Given the description of an element on the screen output the (x, y) to click on. 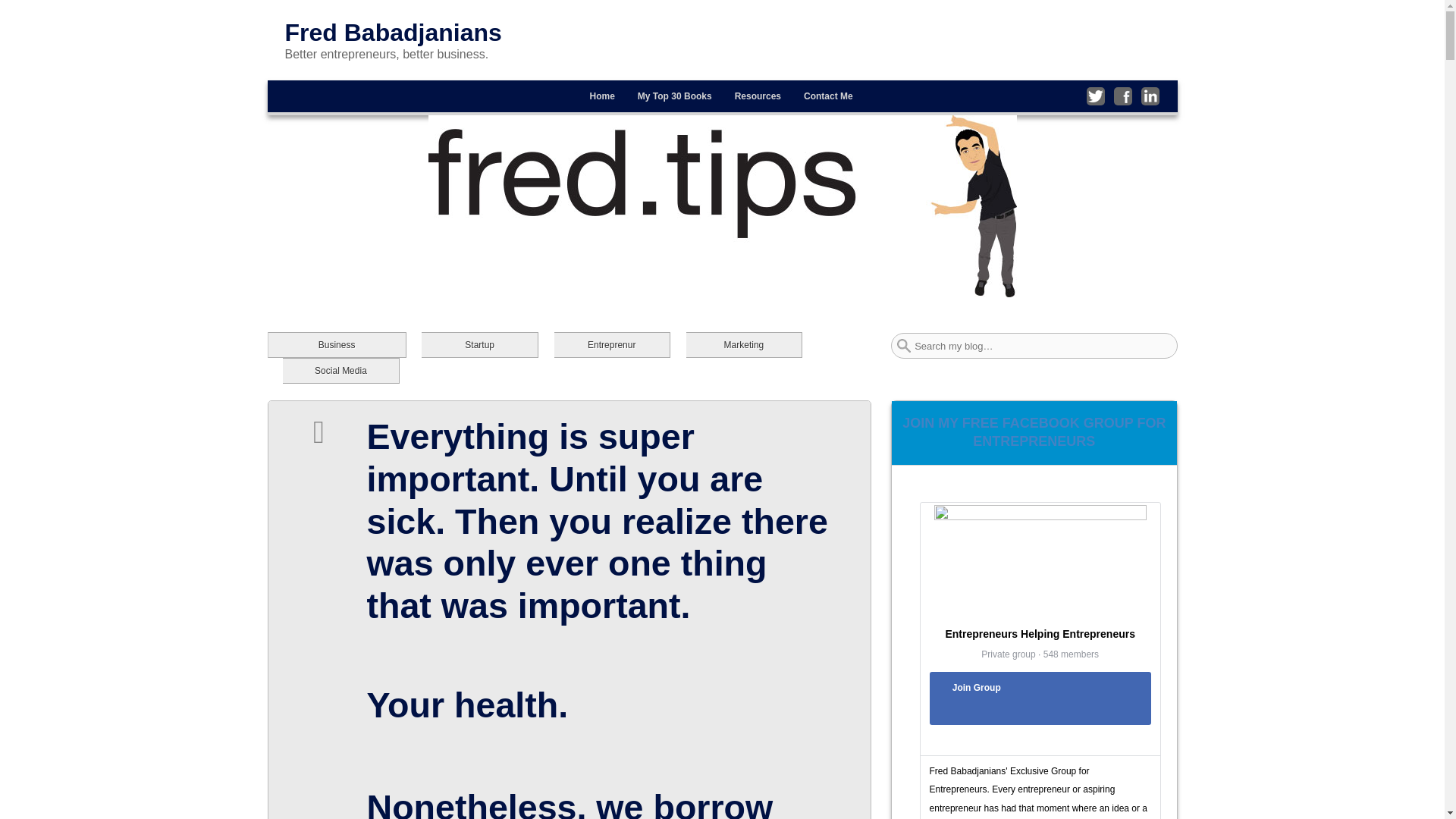
Fred Babadjanians (393, 31)
Entreprenur (611, 344)
Marketing (743, 344)
Business (336, 344)
Social Media (340, 370)
Skip to content (317, 90)
Like me on Facebook (1122, 95)
My Top 30 Books (674, 96)
Resources (757, 96)
Startup (479, 344)
Connect with me on LinkedIn (1149, 95)
Contact Me (828, 96)
Skip to content (317, 90)
Home (602, 96)
Follow me on Twitter (1094, 95)
